Given the description of an element on the screen output the (x, y) to click on. 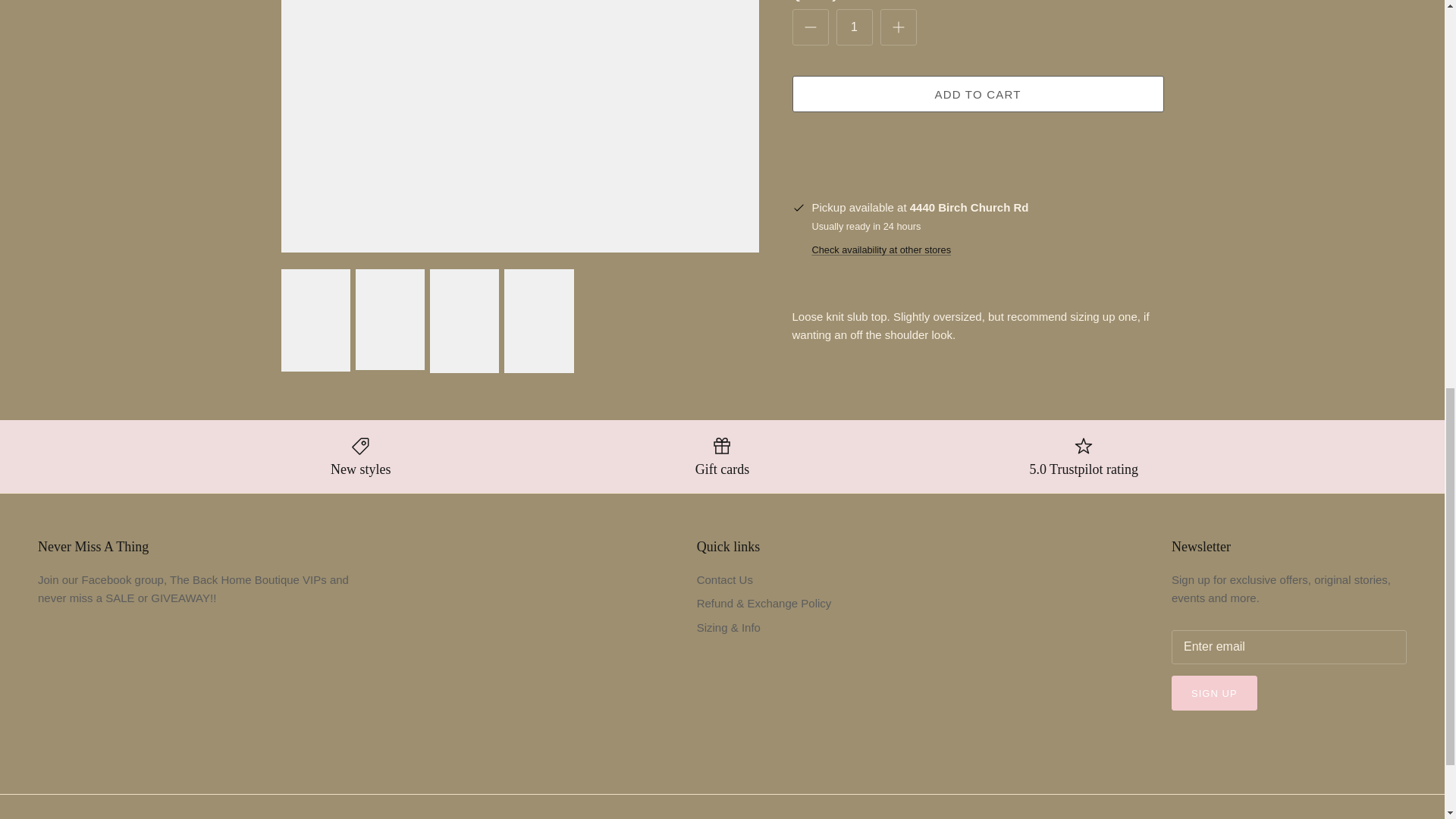
1 (853, 27)
Plus (897, 27)
Minus (809, 27)
